Given the description of an element on the screen output the (x, y) to click on. 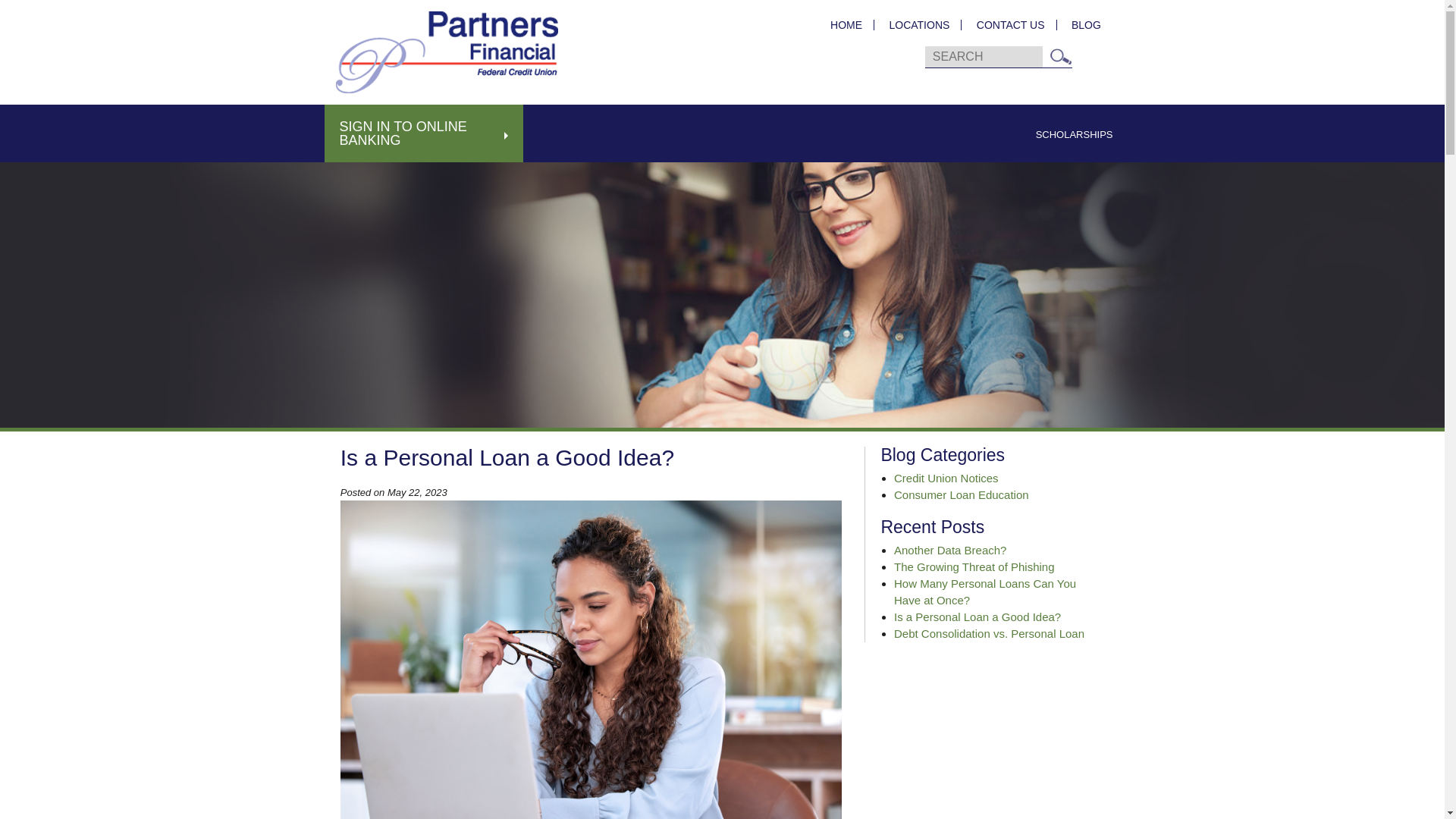
Search (1059, 56)
Credit Union Notices (945, 477)
Is a Personal Loan a Good Idea? (977, 616)
BLOG (1079, 24)
How Many Personal Loans Can You Have at Once? (984, 591)
Search (1059, 56)
Another Data Breach? (949, 549)
The Growing Threat of Phishing (973, 566)
CONTACT US (1011, 24)
SIGN IN TO ONLINE BANKING (424, 133)
Debt Consolidation vs. Personal Loan (988, 633)
HOME (845, 24)
LOCATIONS (918, 24)
Consumer Loan Education (961, 494)
SCHOLARSHIPS (1074, 134)
